Given the description of an element on the screen output the (x, y) to click on. 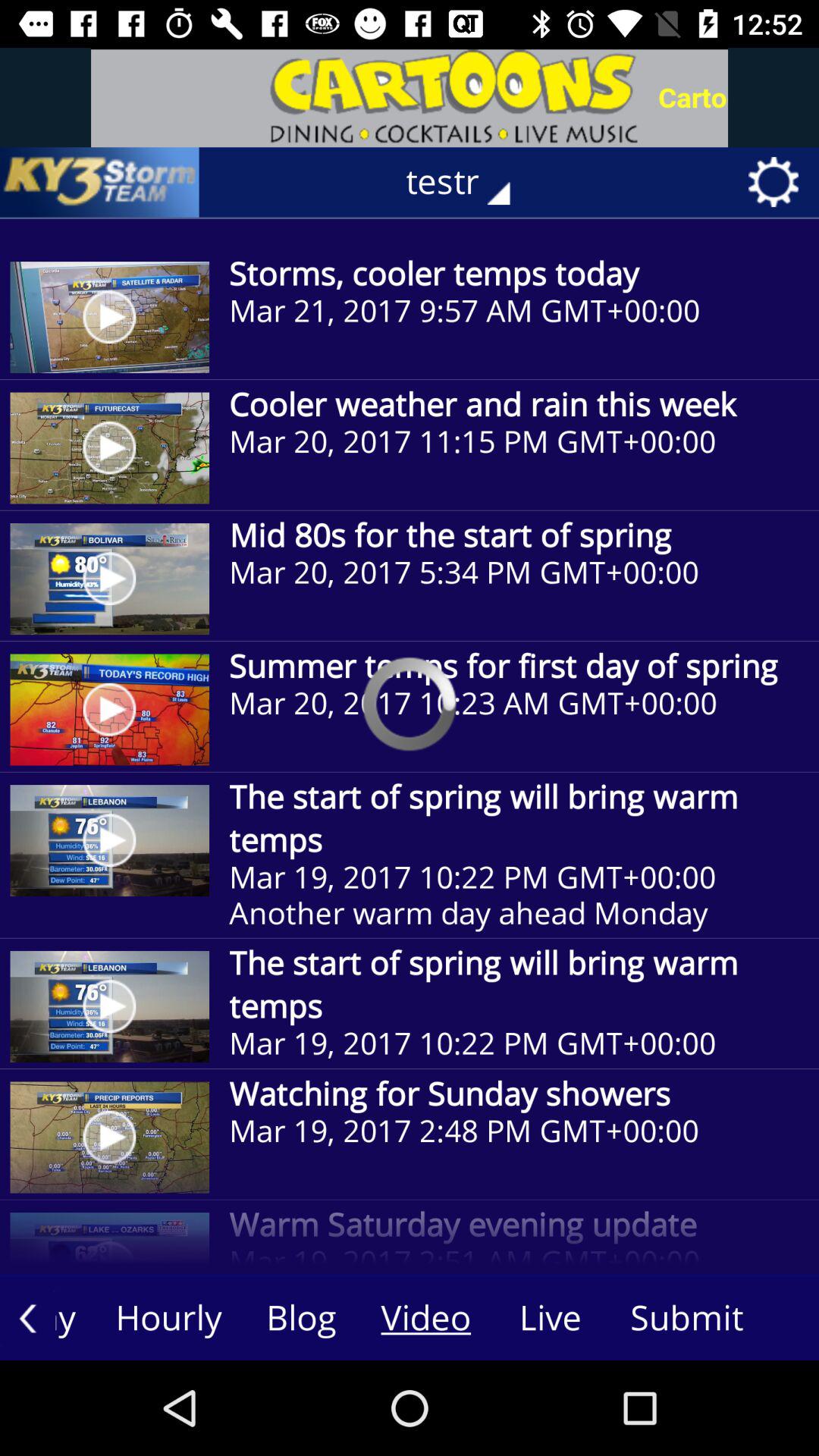
flip until testr (468, 182)
